Given the description of an element on the screen output the (x, y) to click on. 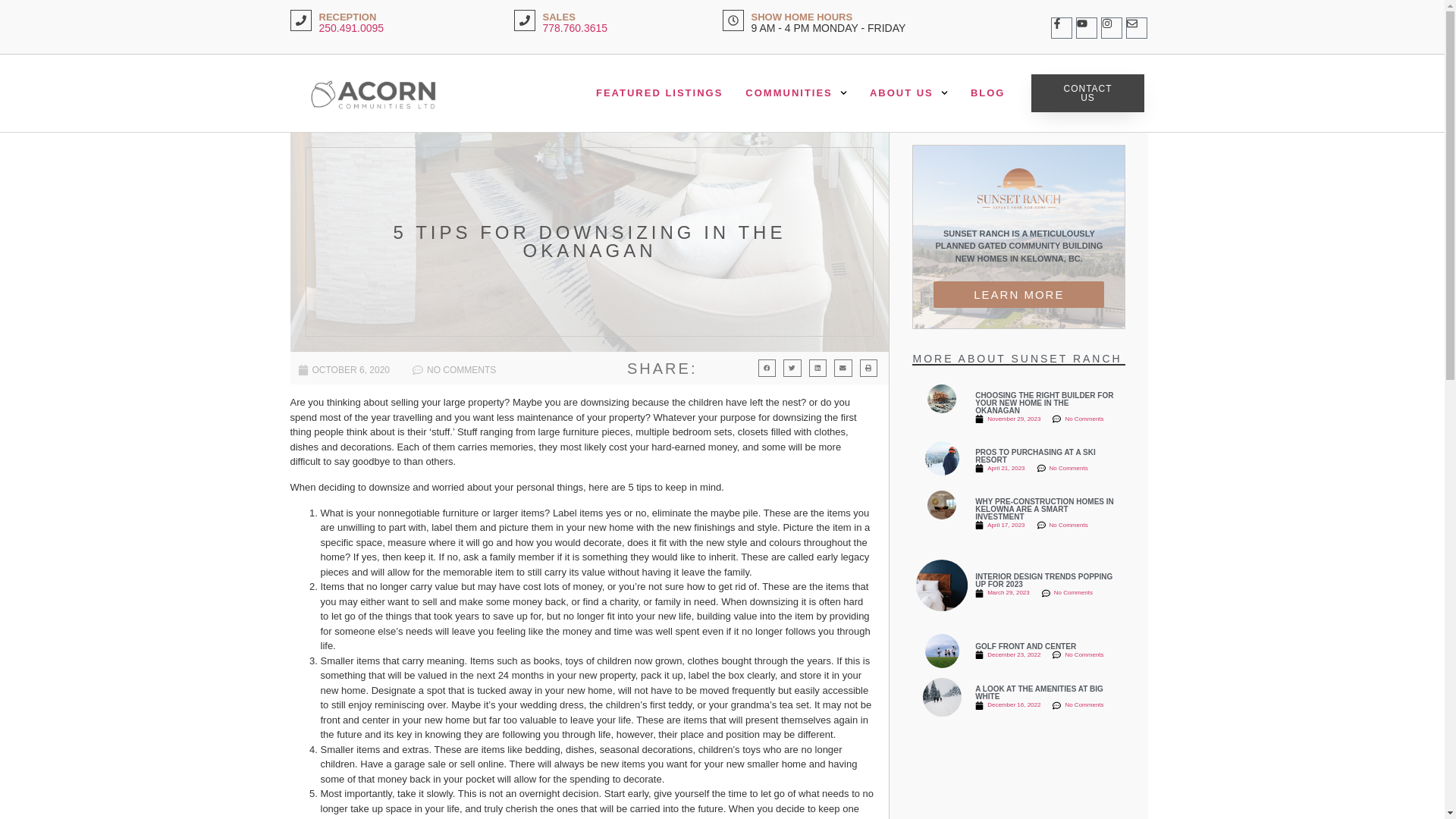
ABOUT US (909, 93)
RECEPTION (346, 16)
FEATURED LISTINGS (659, 93)
BLOG (987, 93)
778.760.3615 (575, 28)
COMMUNITIES (796, 93)
SALES (559, 16)
250.491.0095 (351, 28)
